Given the description of an element on the screen output the (x, y) to click on. 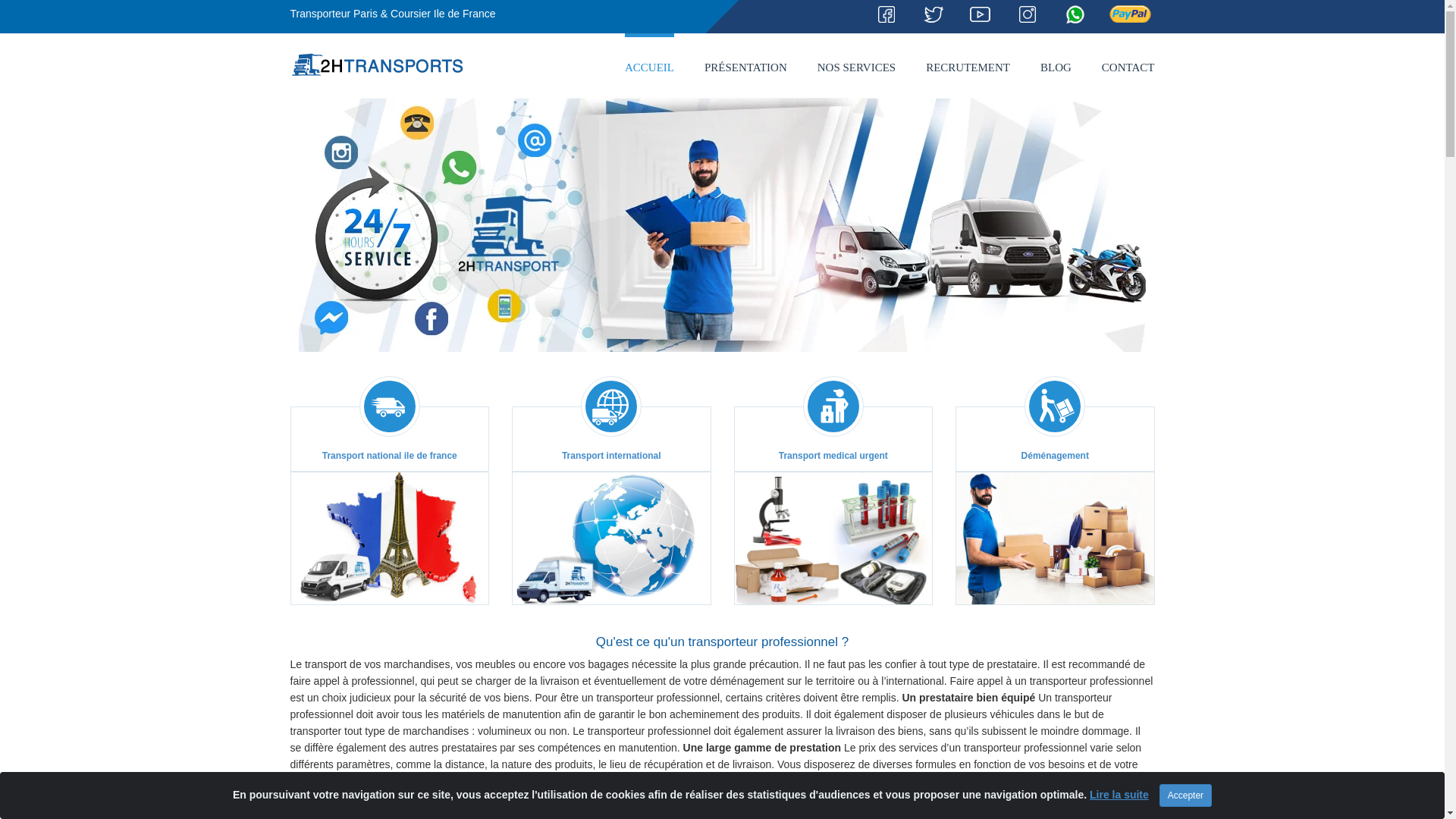
ACCUEIL Element type: text (649, 65)
transport-national-ile-de-france Element type: hover (389, 406)
Transporteur Paris Element type: hover (611, 538)
NOS SERVICES Element type: text (856, 65)
Coursier-paris-banlieue Element type: hover (980, 14)
Coursier-paris-banlieue Element type: hover (933, 14)
Transporteur Paris Element type: hover (832, 538)
Transport de documents et colis Paris IDF - 2H TRANSPORTS  Element type: hover (376, 64)
Transporteur Paris Element type: hover (722, 213)
BLOG Element type: text (1055, 65)
Transport international Element type: text (611, 490)
Coursier-paris-banlieue Element type: hover (886, 14)
RECRUTEMENT Element type: text (967, 65)
CONTACT Element type: text (1127, 65)
Lire la suite Element type: text (1118, 794)
Transport medical urgent Element type: text (833, 490)
Transporteur Paris Element type: hover (1055, 538)
Accepter Element type: text (1185, 795)
Coursier urgent Element type: hover (1074, 14)
Coursier urgent Element type: hover (1027, 14)
Transporteur Paris Element type: hover (390, 538)
transport-international-Paris(75)  Element type: hover (611, 406)
Transport national ile de france Element type: text (389, 490)
transport-medical-urgent-Paris(75) Element type: hover (833, 406)
